Given the description of an element on the screen output the (x, y) to click on. 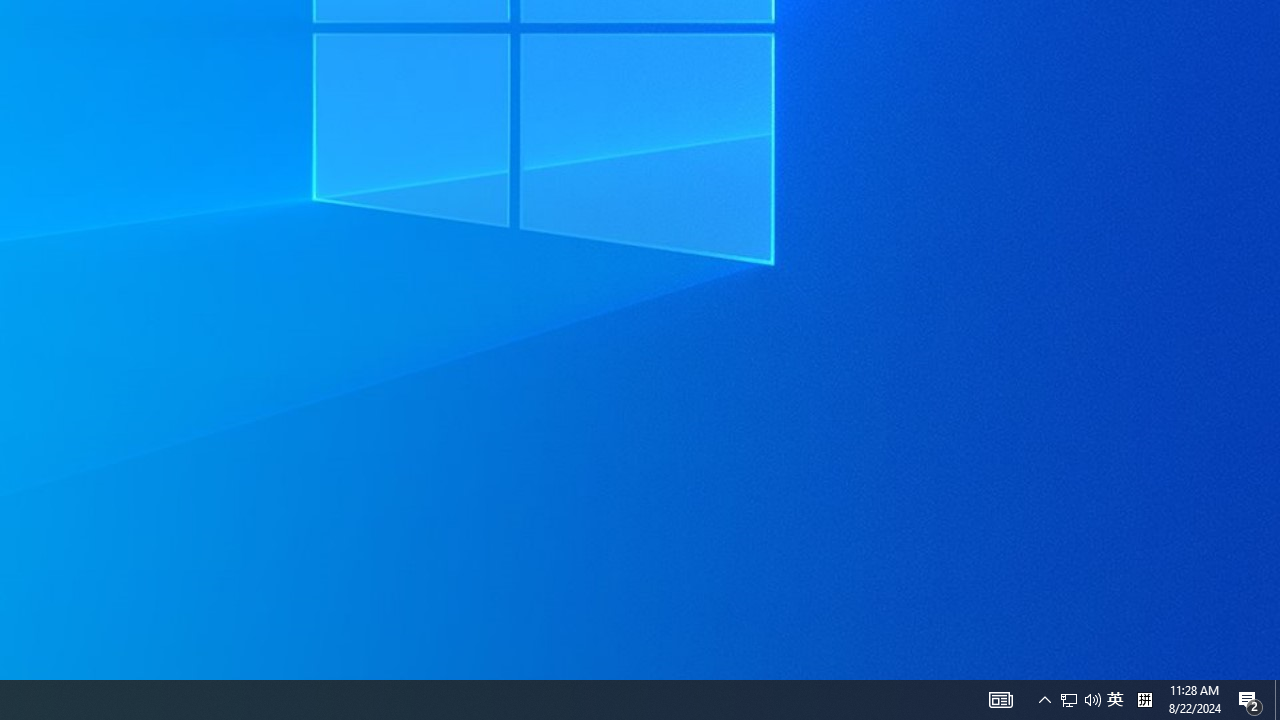
AutomationID: 4105 (1000, 699)
Tray Input Indicator - Chinese (Simplified, China) (1144, 699)
Show desktop (1115, 699)
User Promoted Notification Area (1277, 699)
Action Center, 2 new notifications (1080, 699)
Q2790: 100% (1250, 699)
Notification Chevron (1092, 699)
